Given the description of an element on the screen output the (x, y) to click on. 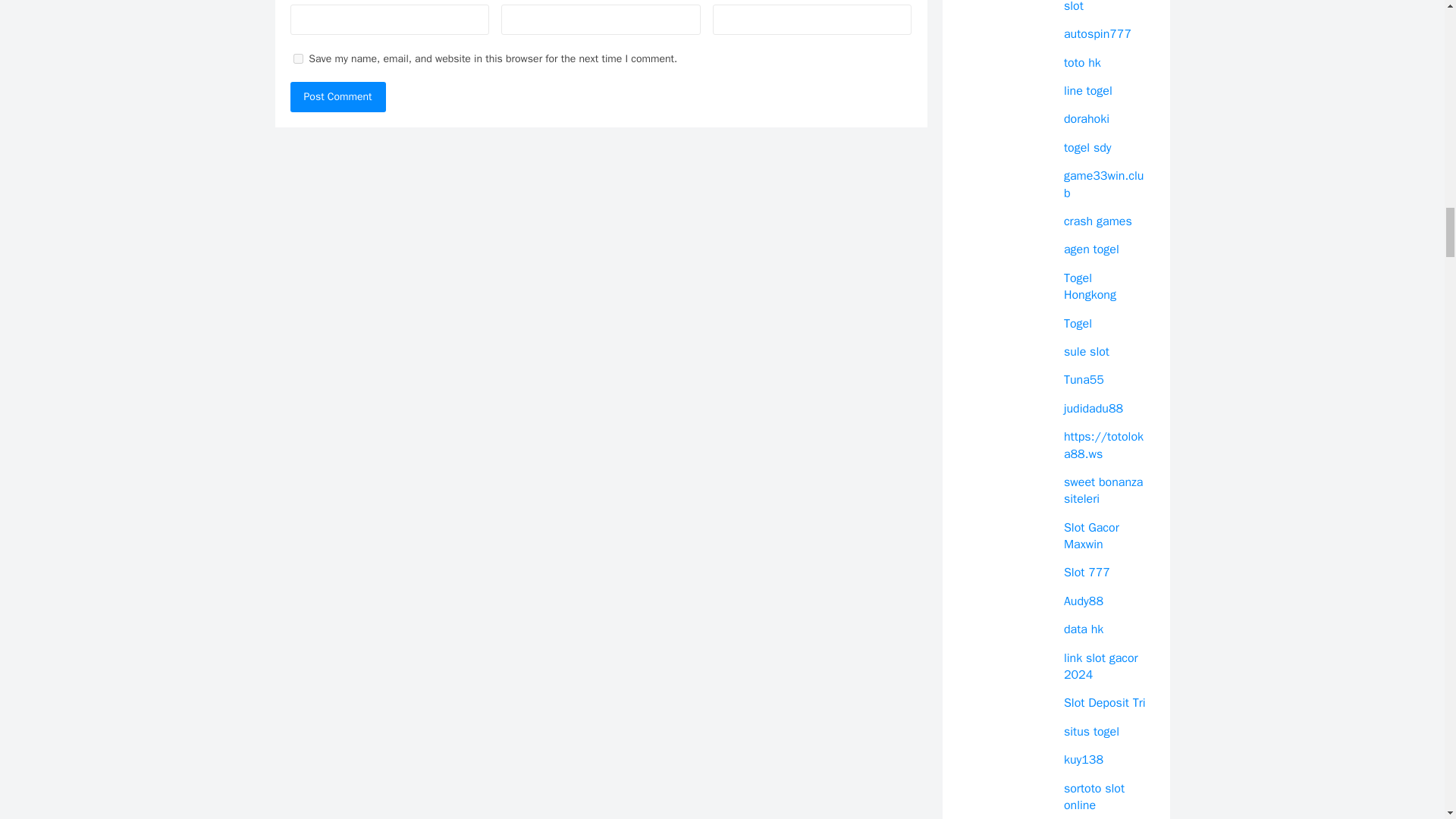
yes (297, 58)
Post Comment (337, 96)
Post Comment (337, 96)
